Given the description of an element on the screen output the (x, y) to click on. 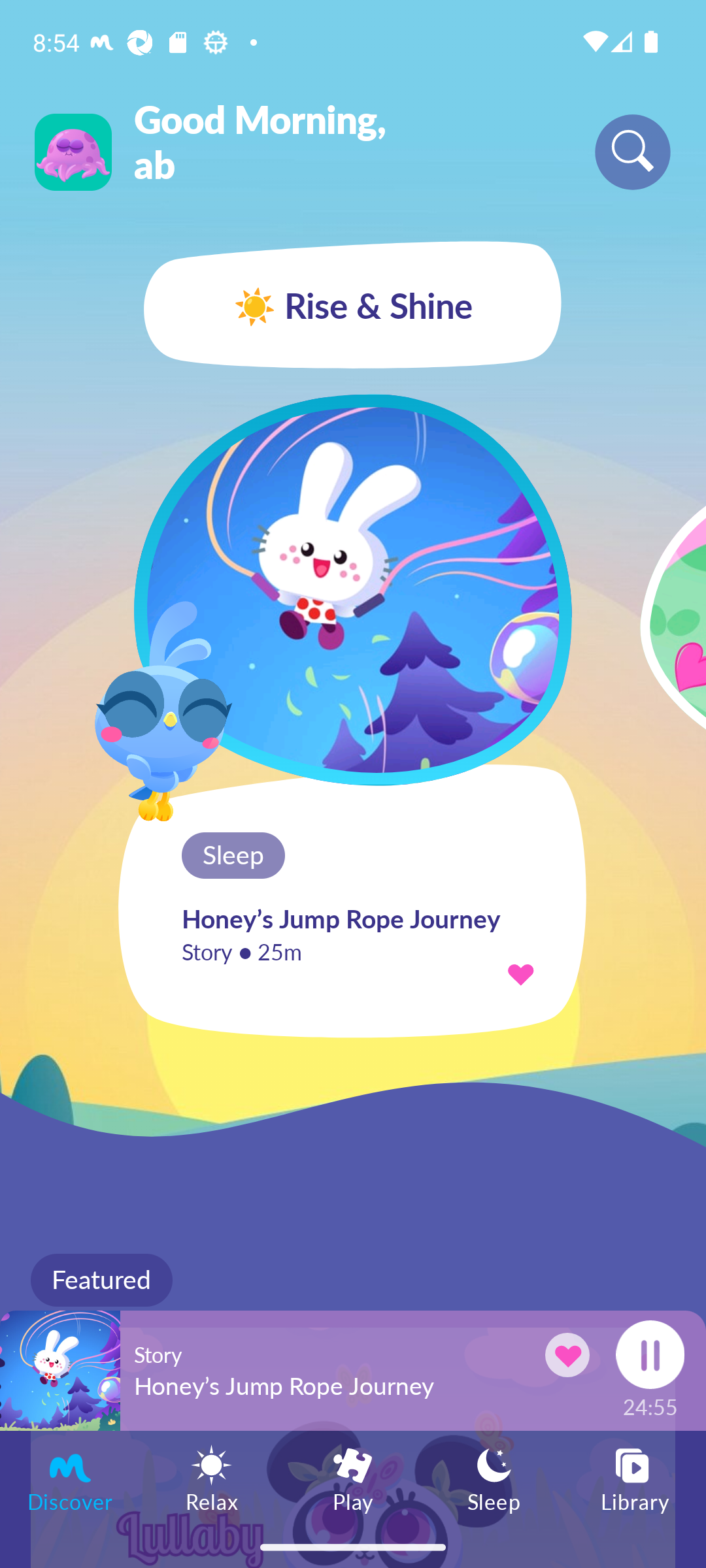
Search (632, 151)
test (352, 589)
Story Honey’s Jump Rope Journey 24:55 (353, 1370)
Relax (211, 1478)
Play (352, 1478)
Sleep (493, 1478)
Library (635, 1478)
